Given the description of an element on the screen output the (x, y) to click on. 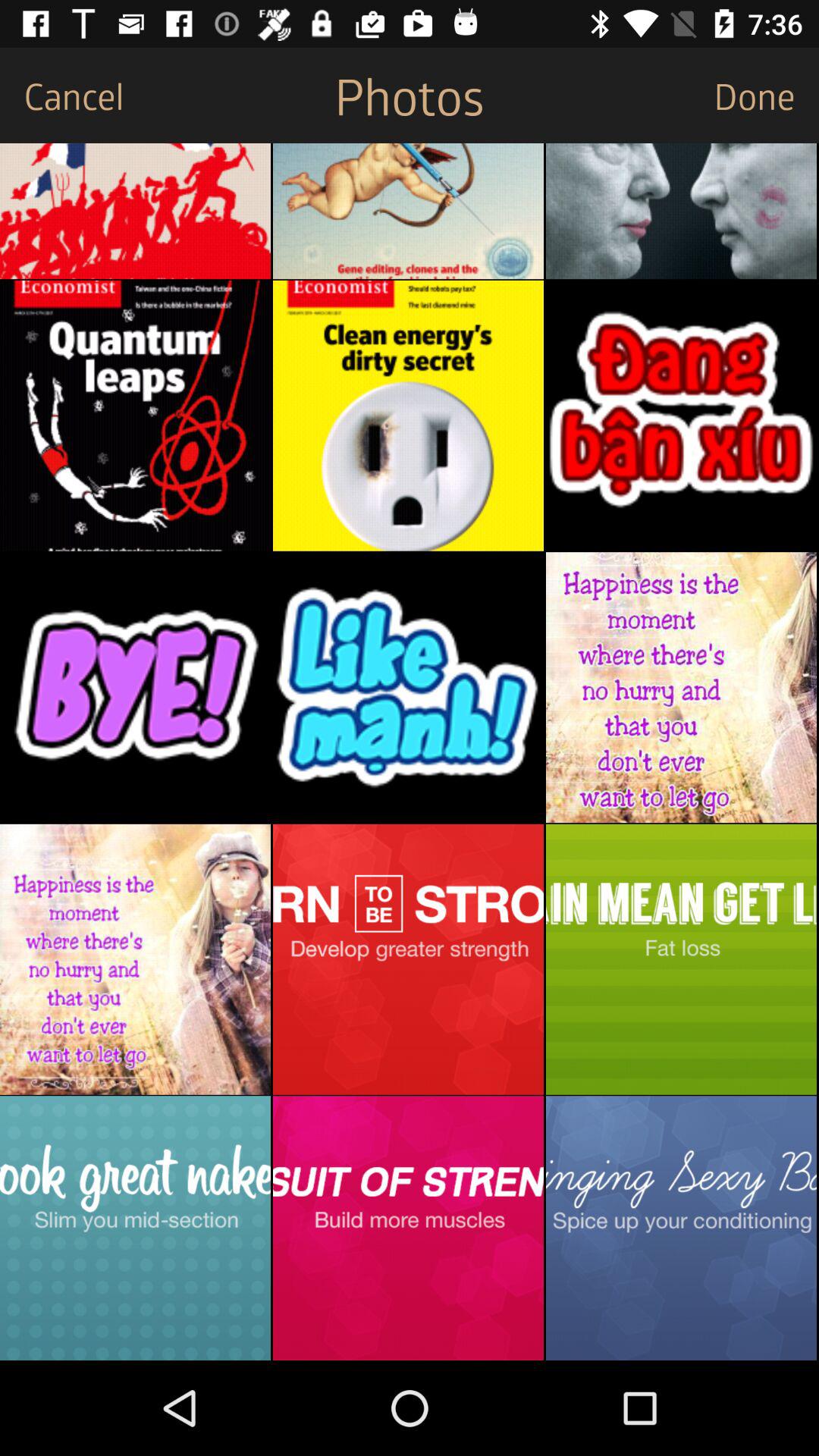
quantum leaps image (135, 415)
